Given the description of an element on the screen output the (x, y) to click on. 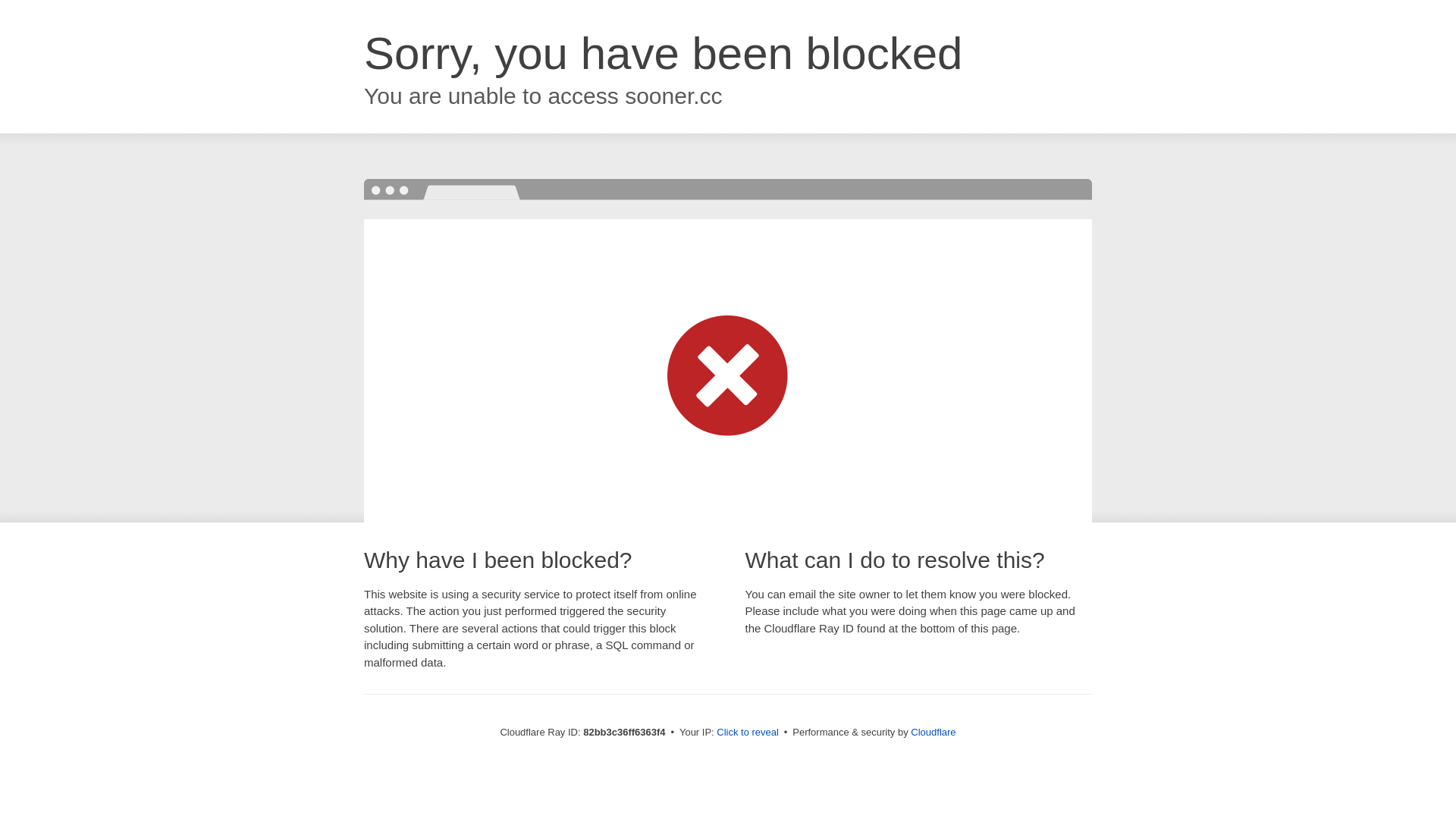
Cloudflare Element type: text (932, 731)
Click to reveal Element type: text (747, 732)
